Given the description of an element on the screen output the (x, y) to click on. 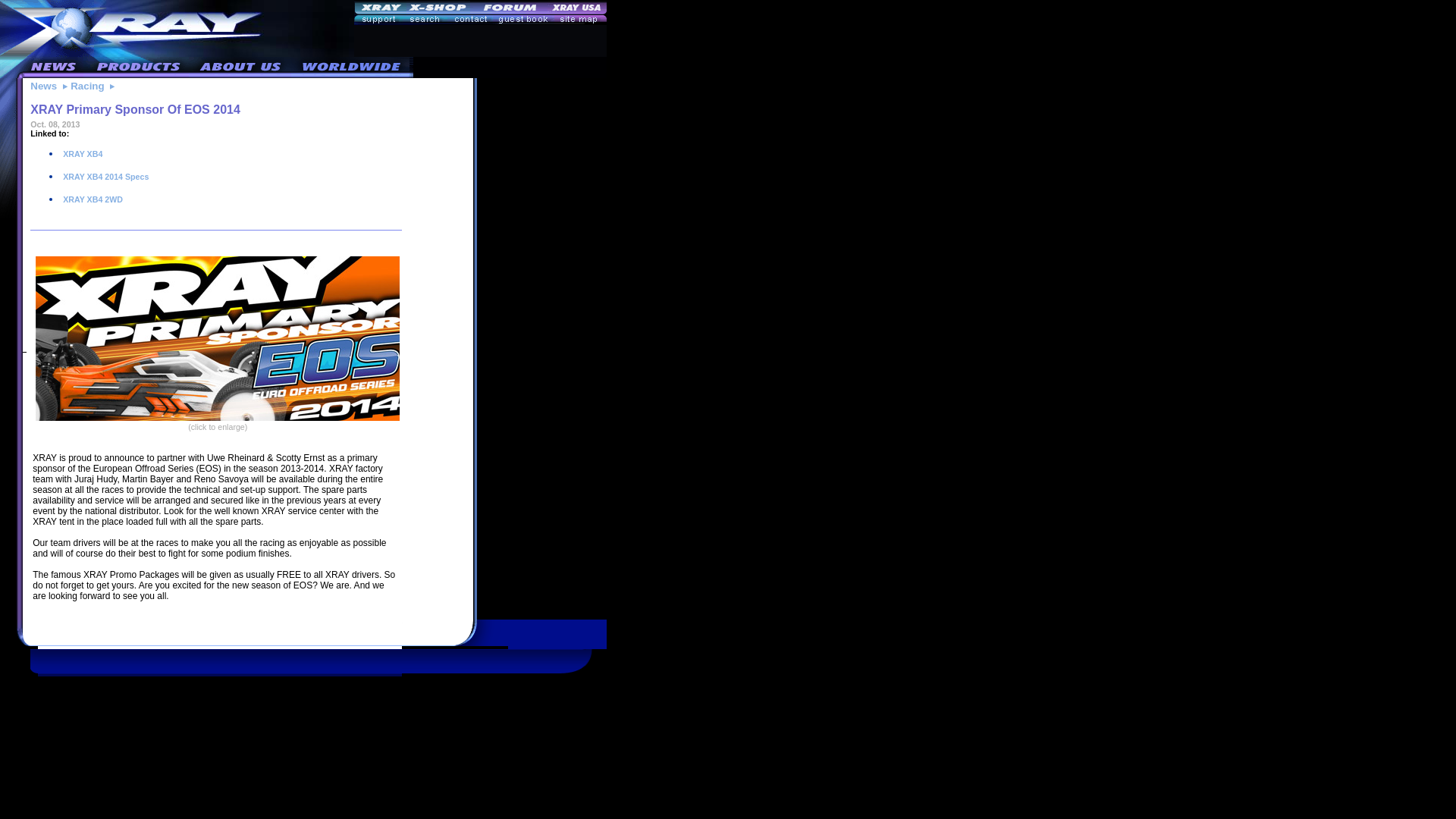
 XRAY XB4 2014 Specs (104, 175)
 XRAY XB4 2WD (91, 198)
News (43, 85)
Racing (86, 85)
 XRAY XB4 (81, 153)
